Given the description of an element on the screen output the (x, y) to click on. 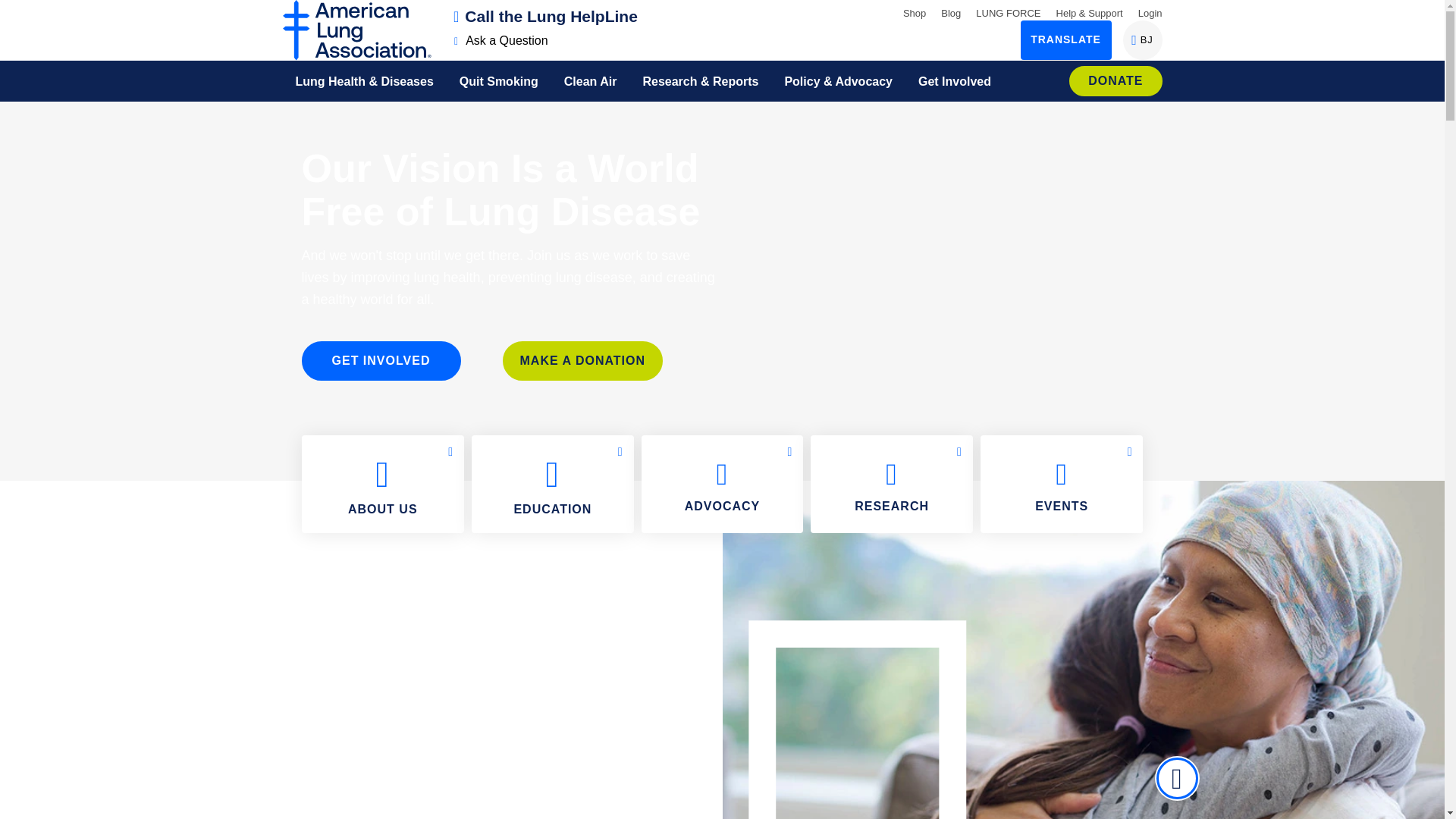
Blog (950, 13)
Call the Lung HelpLine (545, 16)
SKIP TO MAIN CONTENT (18, 10)
Shop (914, 13)
Login (1141, 39)
LUNG FORCE (1149, 13)
Ask a Question (1008, 13)
TRANSLATE (501, 40)
